Given the description of an element on the screen output the (x, y) to click on. 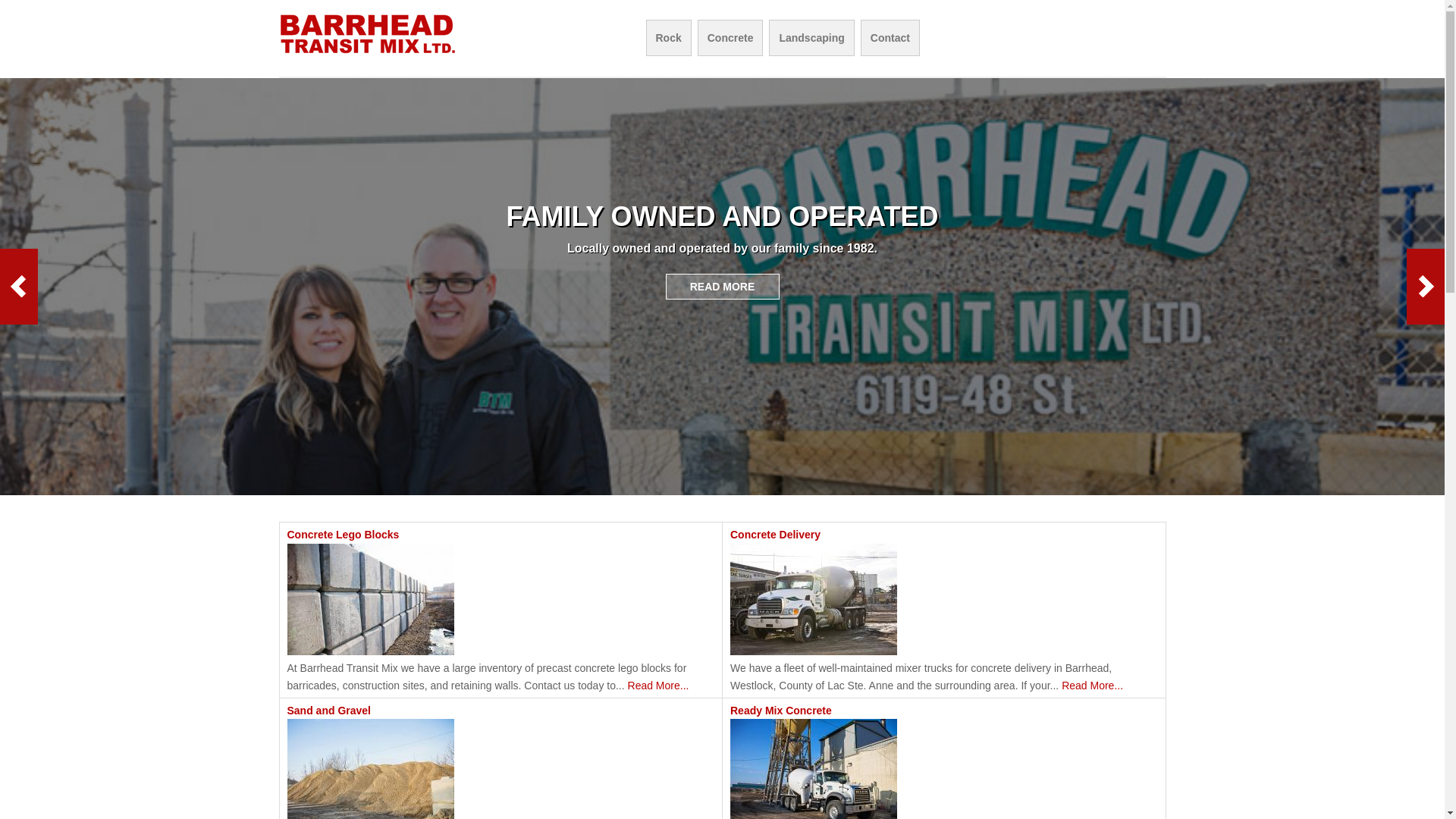
Read More... Element type: text (658, 685)
Concrete Element type: text (730, 37)
Ready Mix Concrete Element type: text (780, 710)
Read More... Element type: text (1092, 685)
Concrete Lego Blocks Element type: text (342, 534)
Concrete Delivery Element type: text (775, 534)
Landscaping Element type: text (811, 37)
Sand and Gravel Element type: text (328, 710)
READ MORE Element type: text (722, 286)
Previous Element type: text (18, 286)
Rock Element type: text (667, 37)
Home Element type: hover (368, 53)
Contact Element type: text (889, 37)
Next Element type: text (1425, 286)
